Given the description of an element on the screen output the (x, y) to click on. 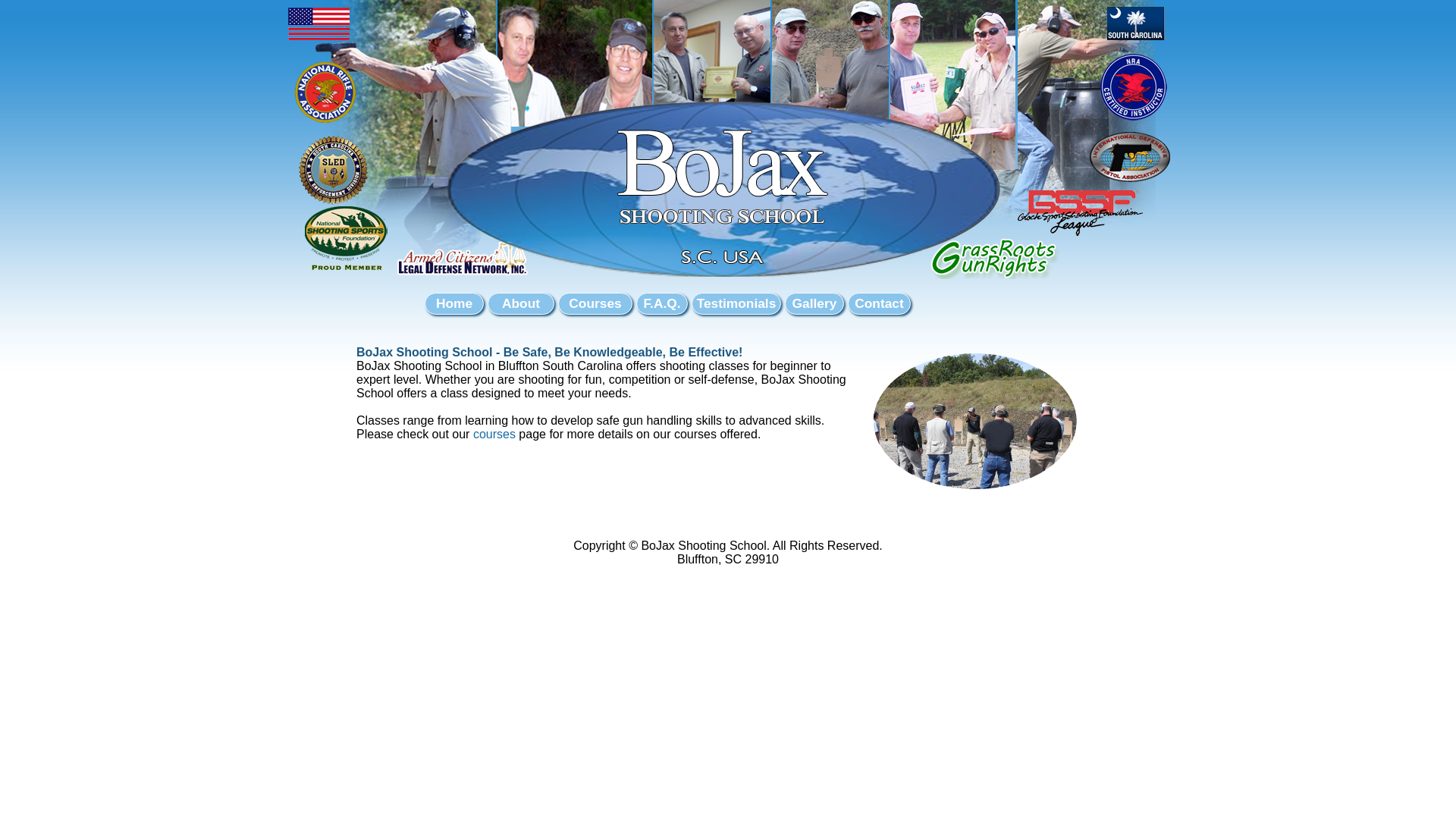
Home (453, 303)
courses (494, 433)
Gallery (814, 303)
F.A.Q. (661, 303)
Contact (879, 303)
Testimonials (736, 303)
Courses (595, 303)
About (521, 303)
